Given the description of an element on the screen output the (x, y) to click on. 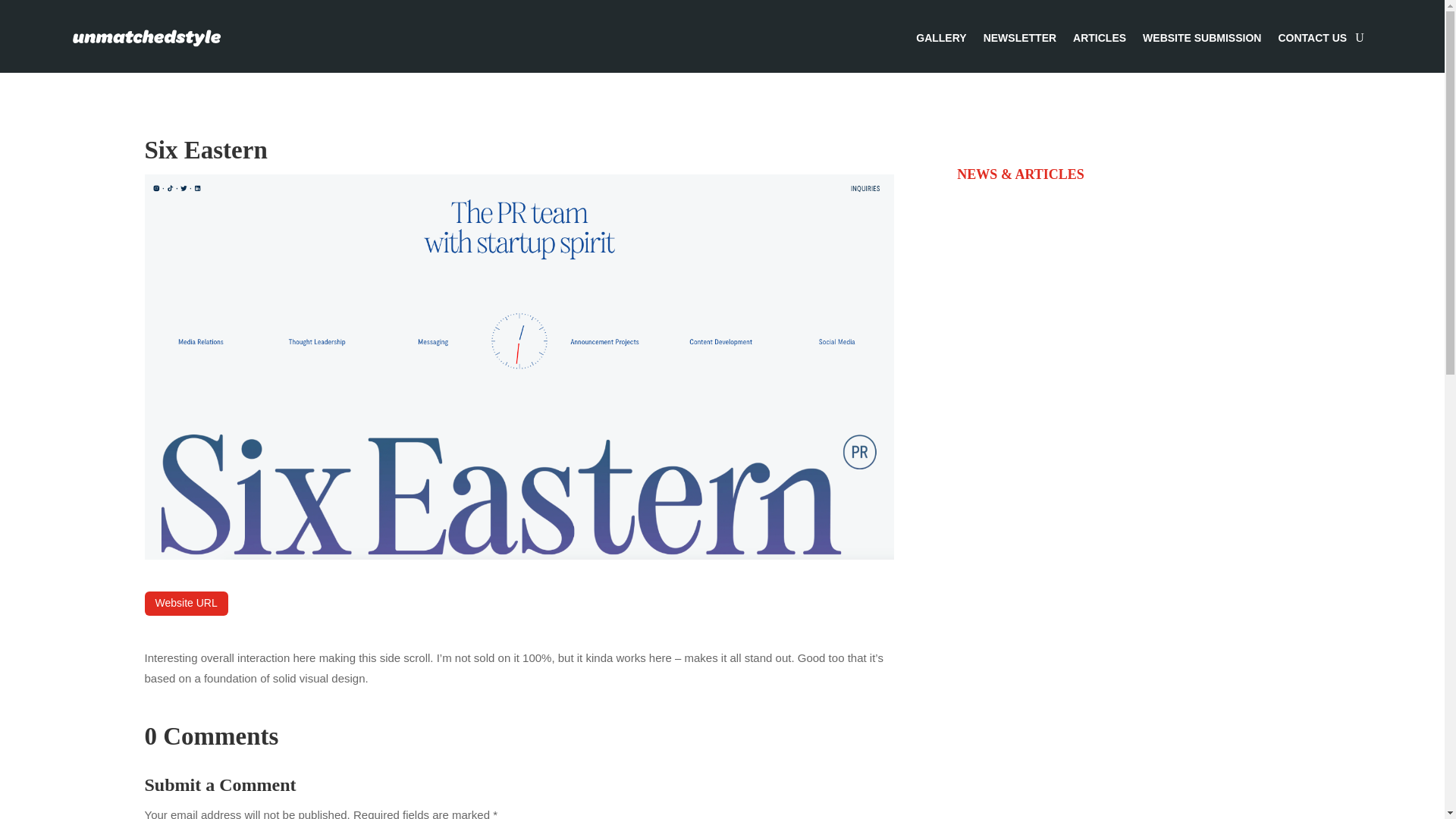
ARTICLES (1099, 37)
NEWSLETTER (1020, 37)
CONTACT US (1312, 37)
Website URL (185, 603)
WEBSITE SUBMISSION (1201, 37)
